Given the description of an element on the screen output the (x, y) to click on. 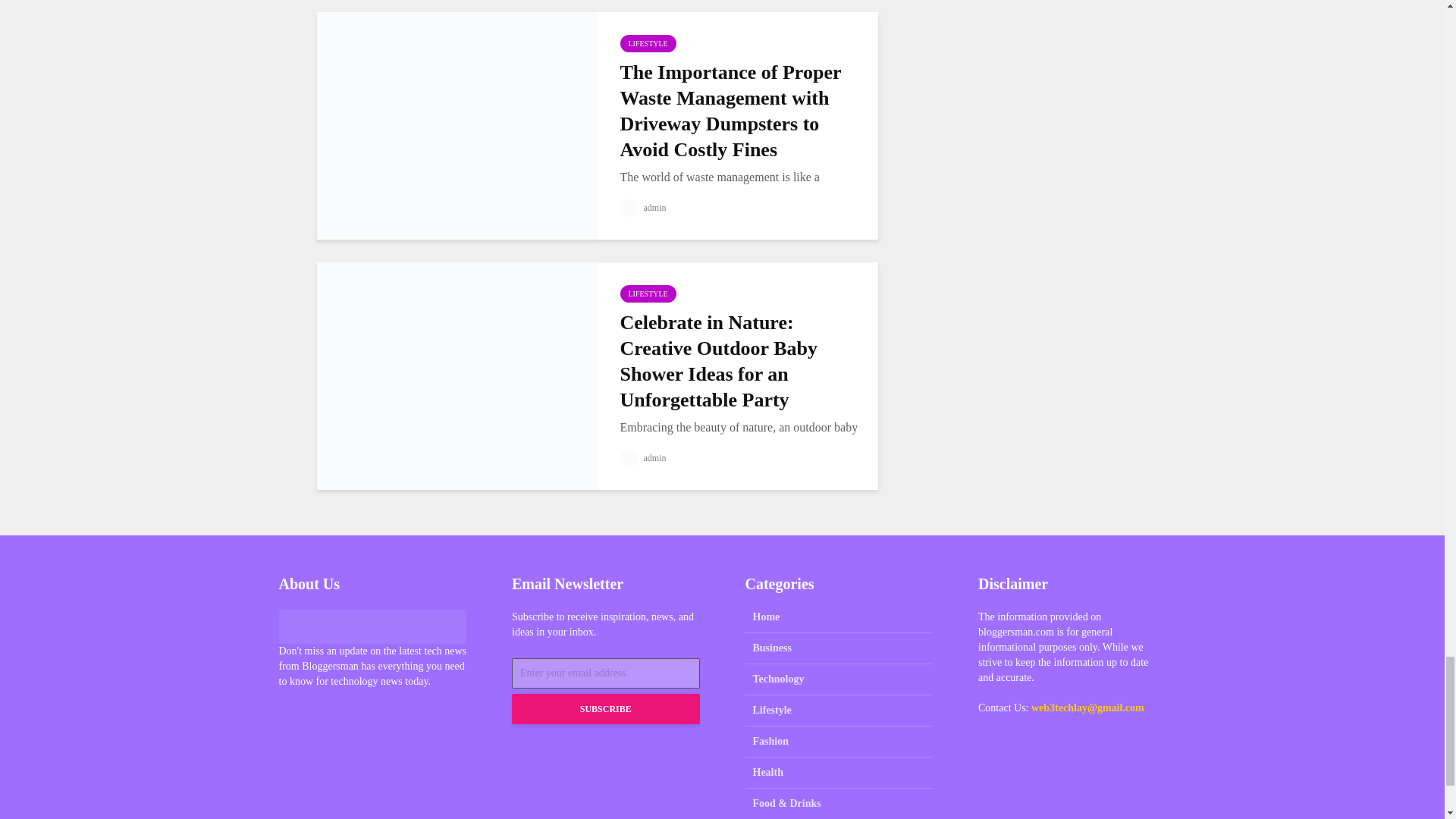
Subscribe (606, 708)
Subscribe (606, 708)
LIFESTYLE (648, 43)
